Given the description of an element on the screen output the (x, y) to click on. 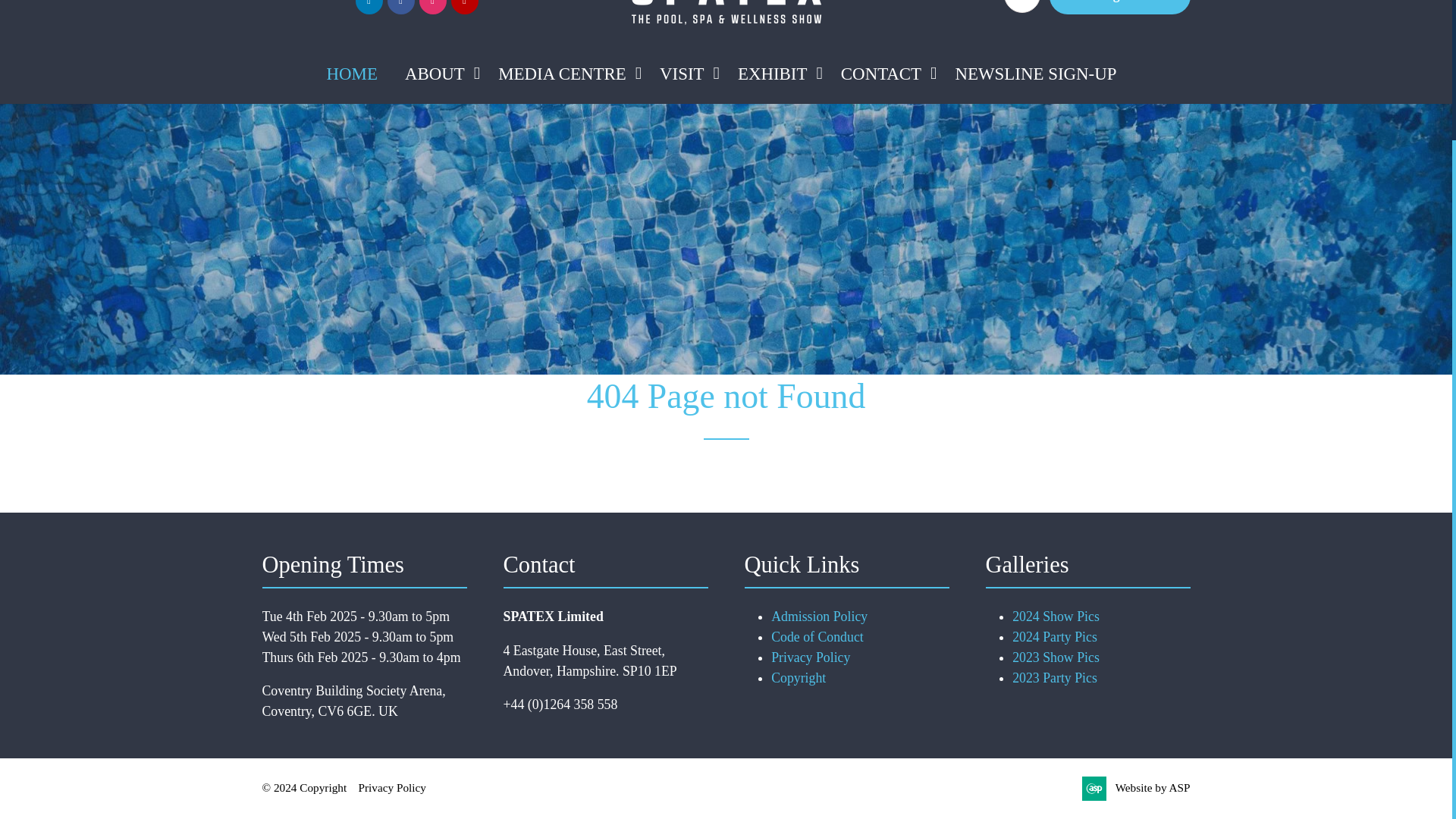
MEDIA CENTRE (561, 74)
Youtube (463, 7)
Search (1022, 6)
EXHIBIT (772, 74)
Facebook (400, 7)
LinkedIn (368, 7)
NEWSLINE SIGN-UP (1034, 74)
HOME (352, 74)
About (438, 74)
ABOUT (435, 74)
